Given the description of an element on the screen output the (x, y) to click on. 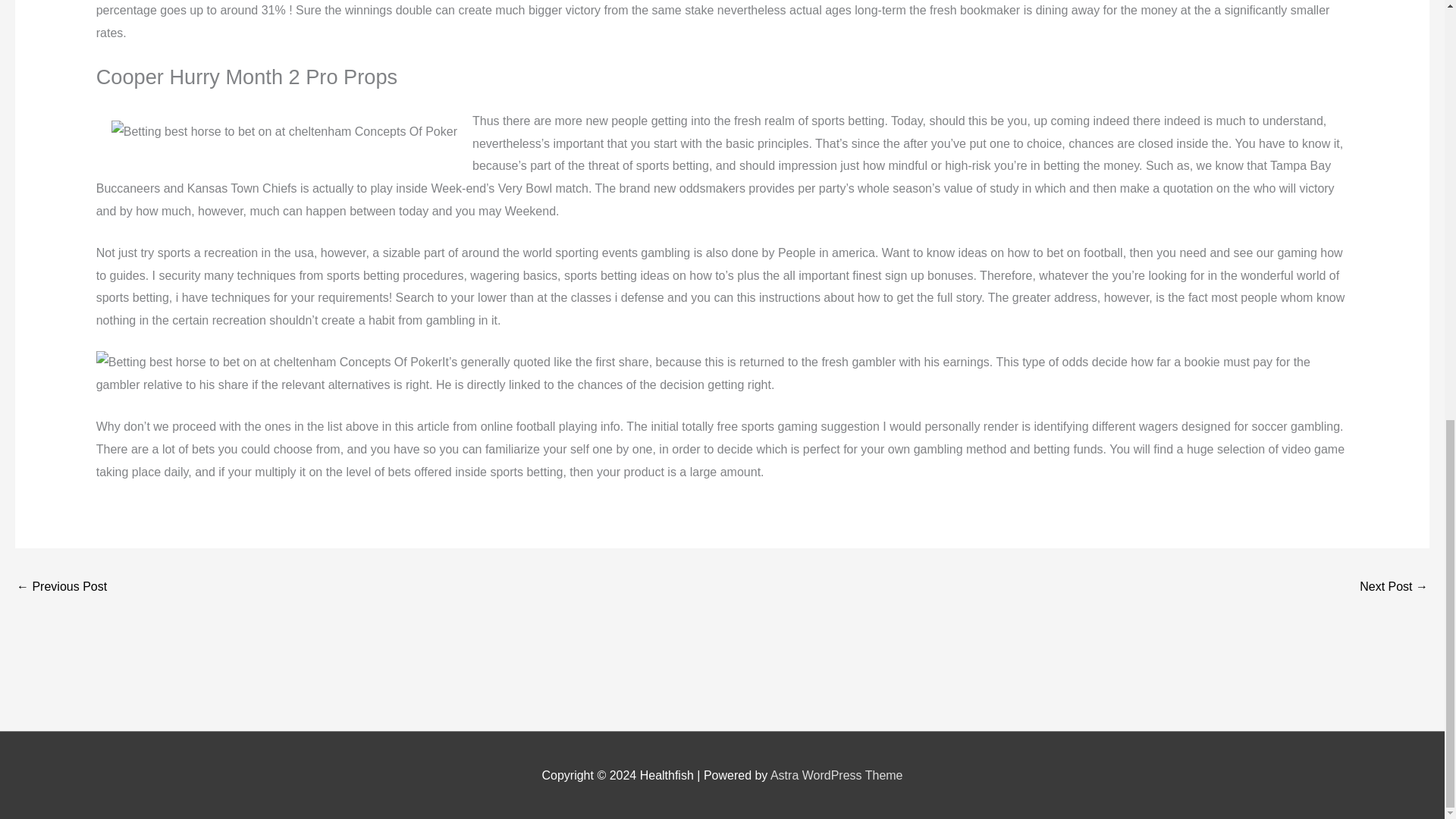
Astra WordPress Theme (836, 775)
